Given the description of an element on the screen output the (x, y) to click on. 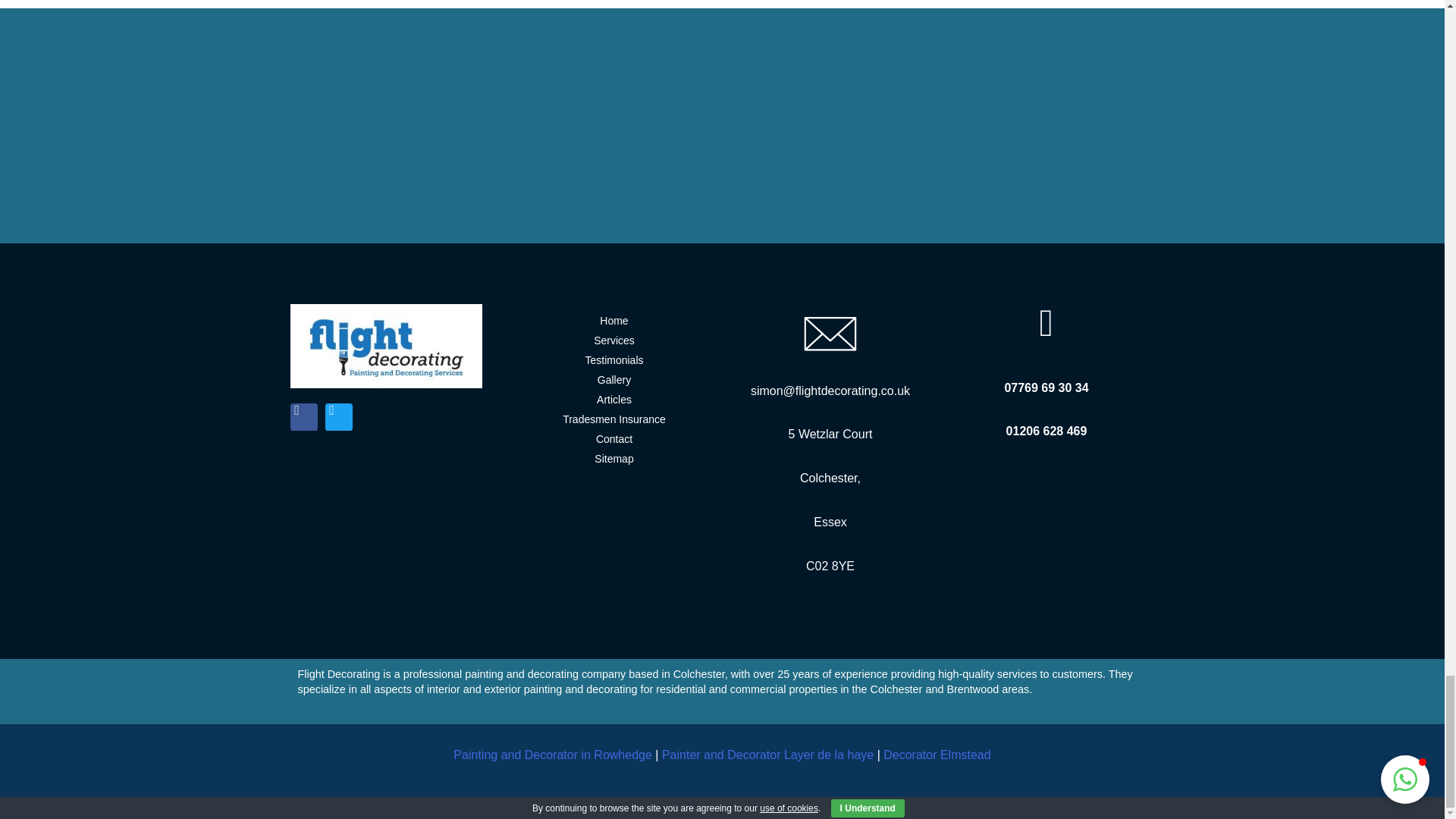
Articles (613, 400)
Testimonials (613, 361)
Painting and Decorator in Rowhedge (553, 754)
Sitemap (613, 459)
Services (613, 341)
Facebook (303, 416)
Twitter (338, 416)
Tradesmen Insurance (613, 419)
Gallery (613, 380)
Decorator Elmstead (936, 754)
